Given the description of an element on the screen output the (x, y) to click on. 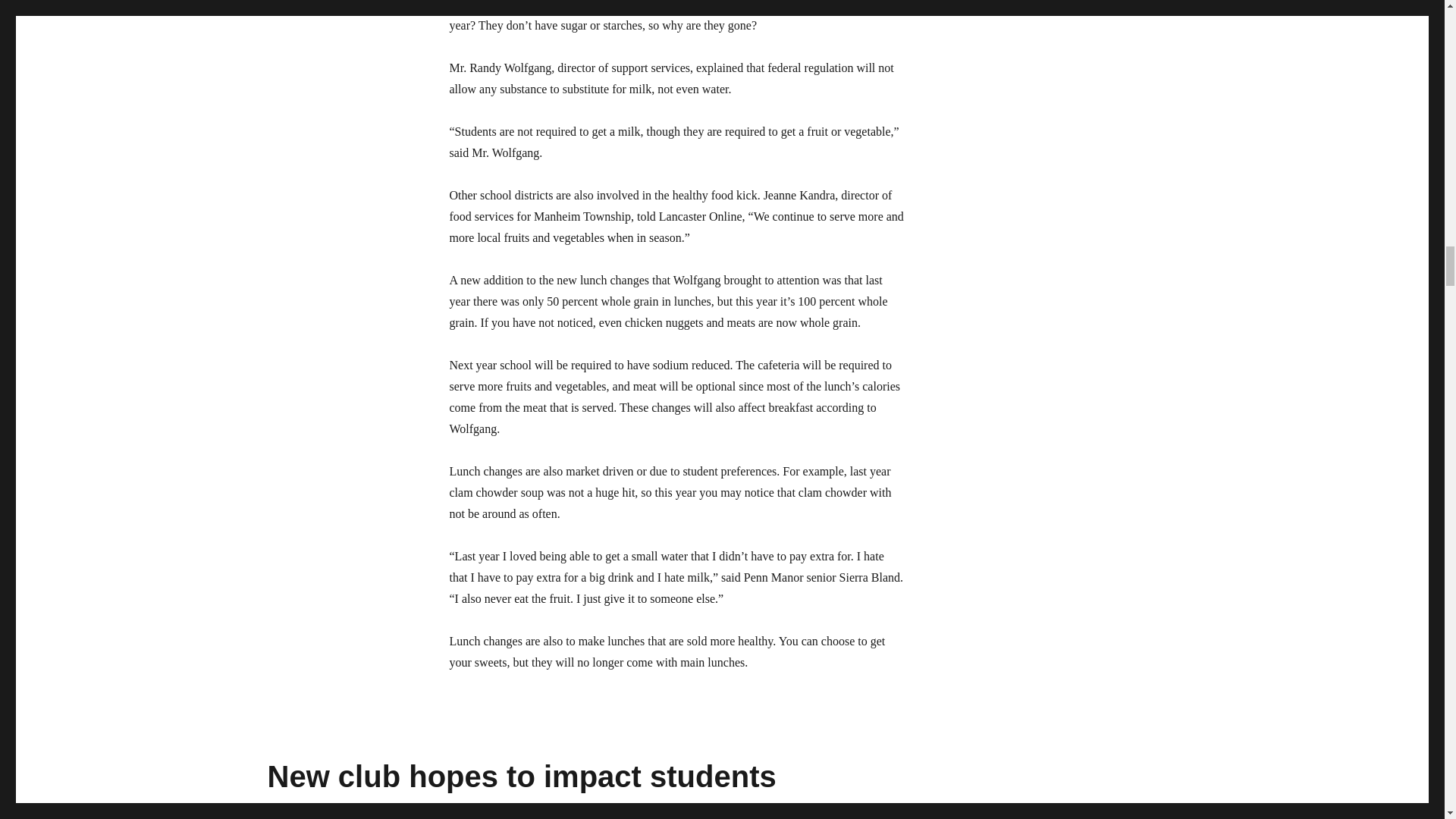
New club hopes to impact students (521, 776)
